Given the description of an element on the screen output the (x, y) to click on. 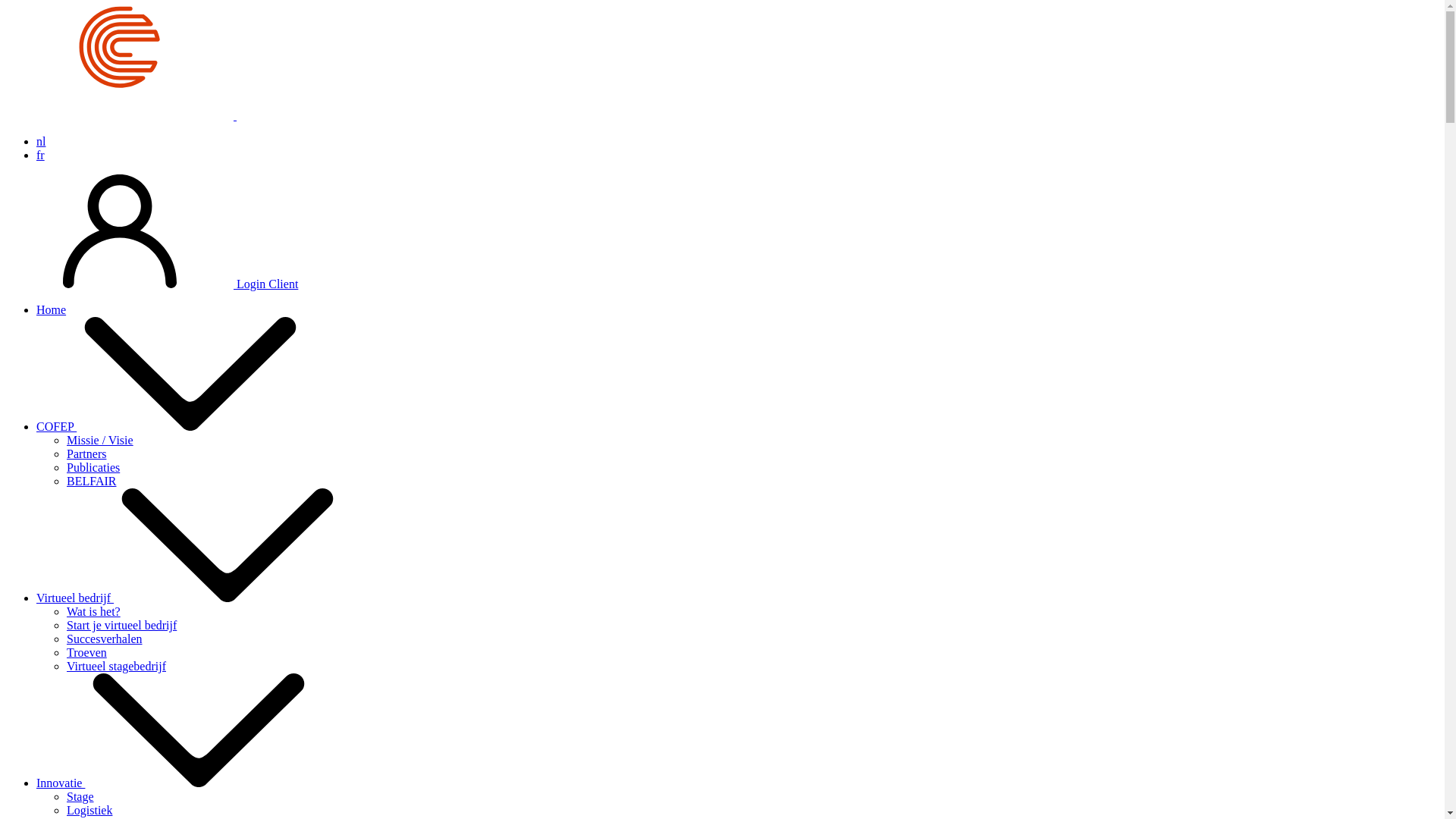
Partners Element type: text (86, 453)
COFEP Element type: hover (235, 115)
BELFAIR Element type: text (91, 480)
Stage Element type: text (80, 796)
Logistiek Element type: text (89, 809)
Wat is het? Element type: text (93, 611)
Home Element type: text (50, 309)
COFEP Element type: text (170, 426)
Virtueel bedrijf Element type: text (188, 597)
Login Client Element type: text (152, 283)
Missie / Visie Element type: text (99, 439)
nl Element type: text (40, 140)
Innovatie Element type: text (174, 782)
fr Element type: text (40, 154)
Succesverhalen Element type: text (104, 638)
Virtueel stagebedrijf Element type: text (116, 665)
Publicaties Element type: text (92, 467)
Start je virtueel bedrijf Element type: text (121, 624)
Troeven Element type: text (86, 652)
